Given the description of an element on the screen output the (x, y) to click on. 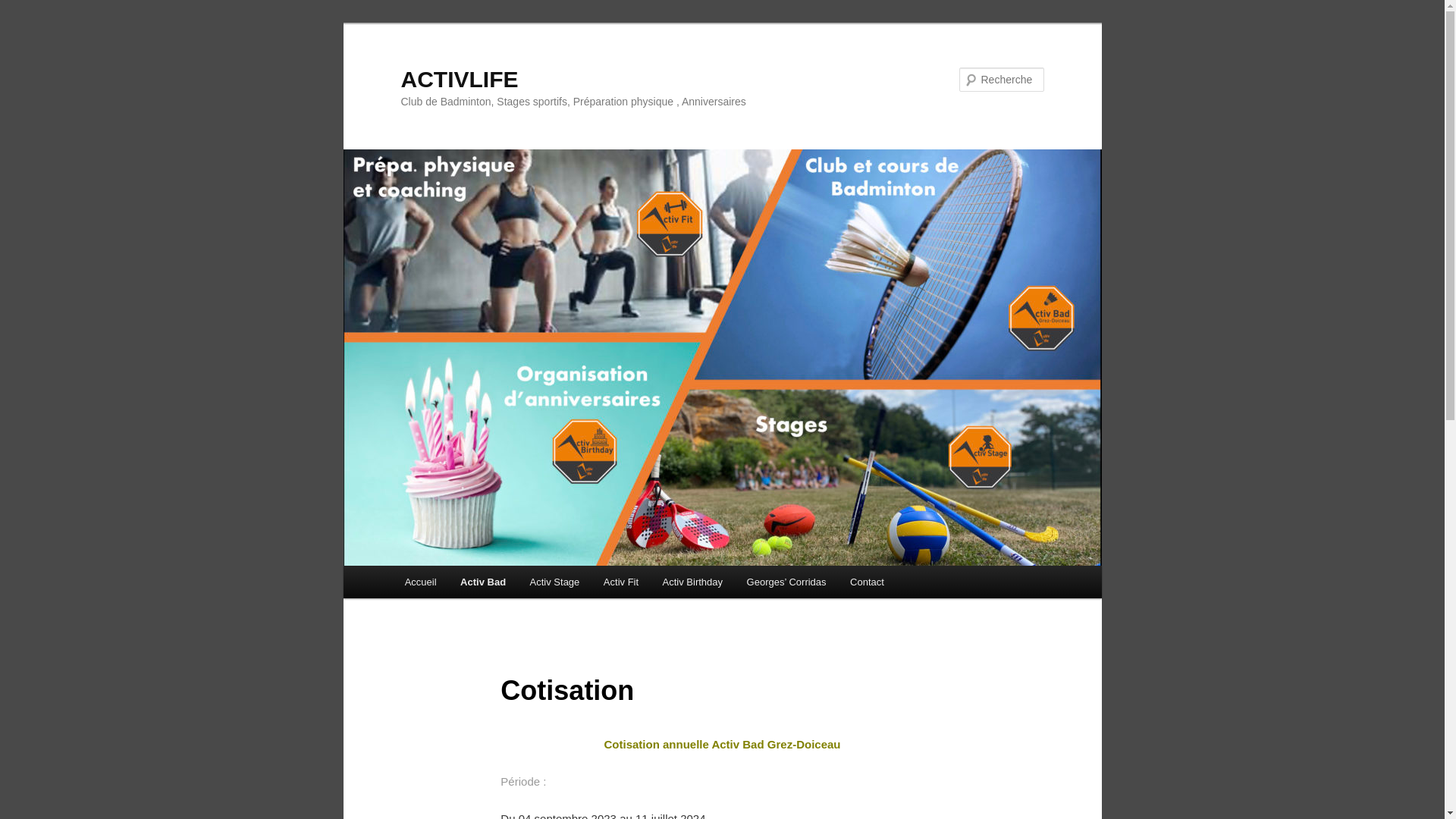
Activ Fit Element type: text (620, 581)
Aller au contenu principal Element type: text (22, 22)
Activ Birthday Element type: text (692, 581)
Activ Stage Element type: text (554, 581)
Activ Bad Element type: text (482, 581)
Contact Element type: text (866, 581)
ACTIVLIFE Element type: text (458, 78)
Accueil Element type: text (420, 581)
Recherche Element type: text (33, 8)
